Given the description of an element on the screen output the (x, y) to click on. 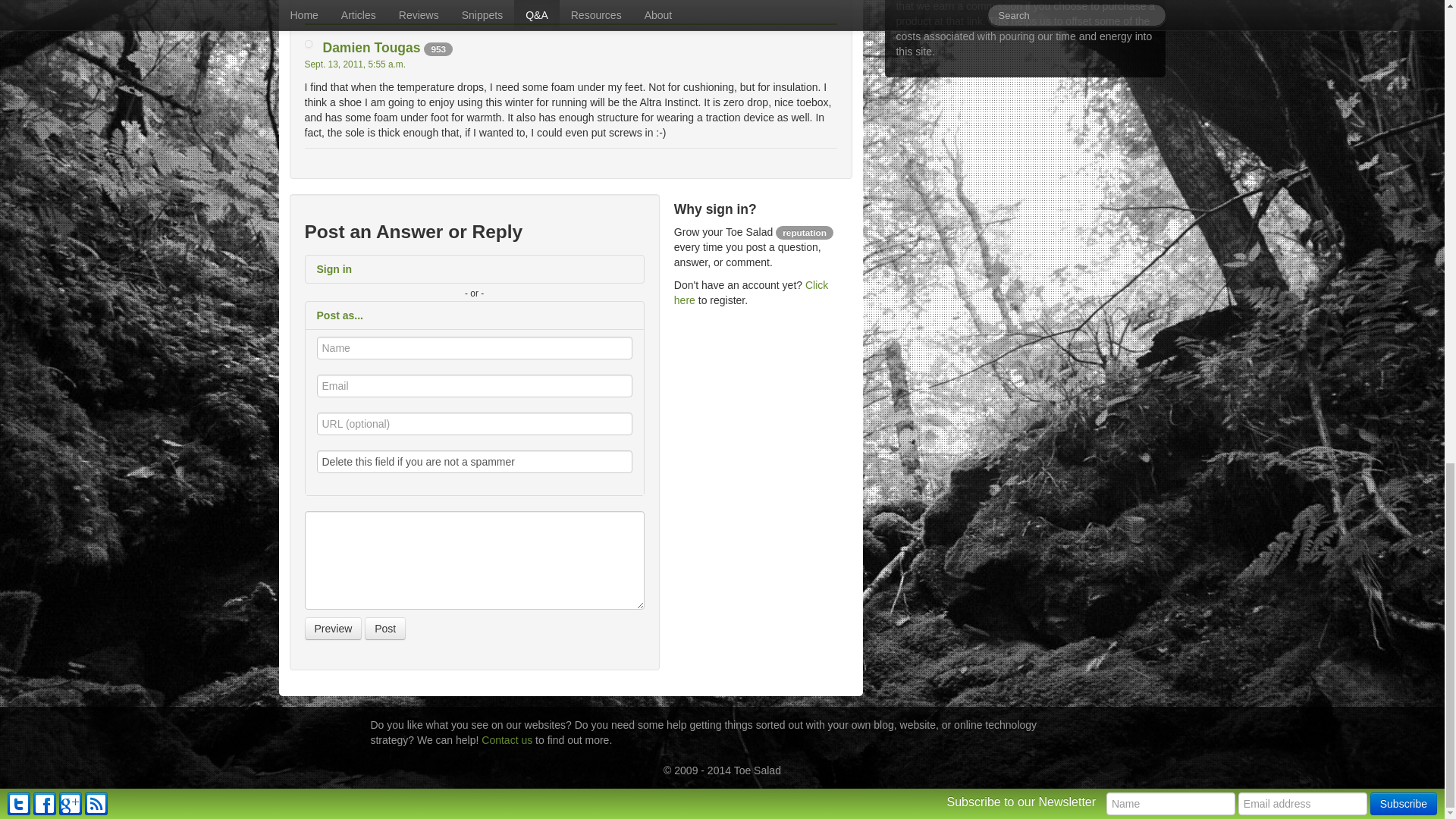
Delete this field if you are not a spammer (474, 461)
Sept. 13, 2011, 5:55 a.m. (355, 63)
Post (385, 628)
Sign in (473, 268)
Damien Tougas (371, 47)
Preview (333, 628)
Click here (751, 292)
Contact us (506, 739)
Post as... (473, 315)
